Given the description of an element on the screen output the (x, y) to click on. 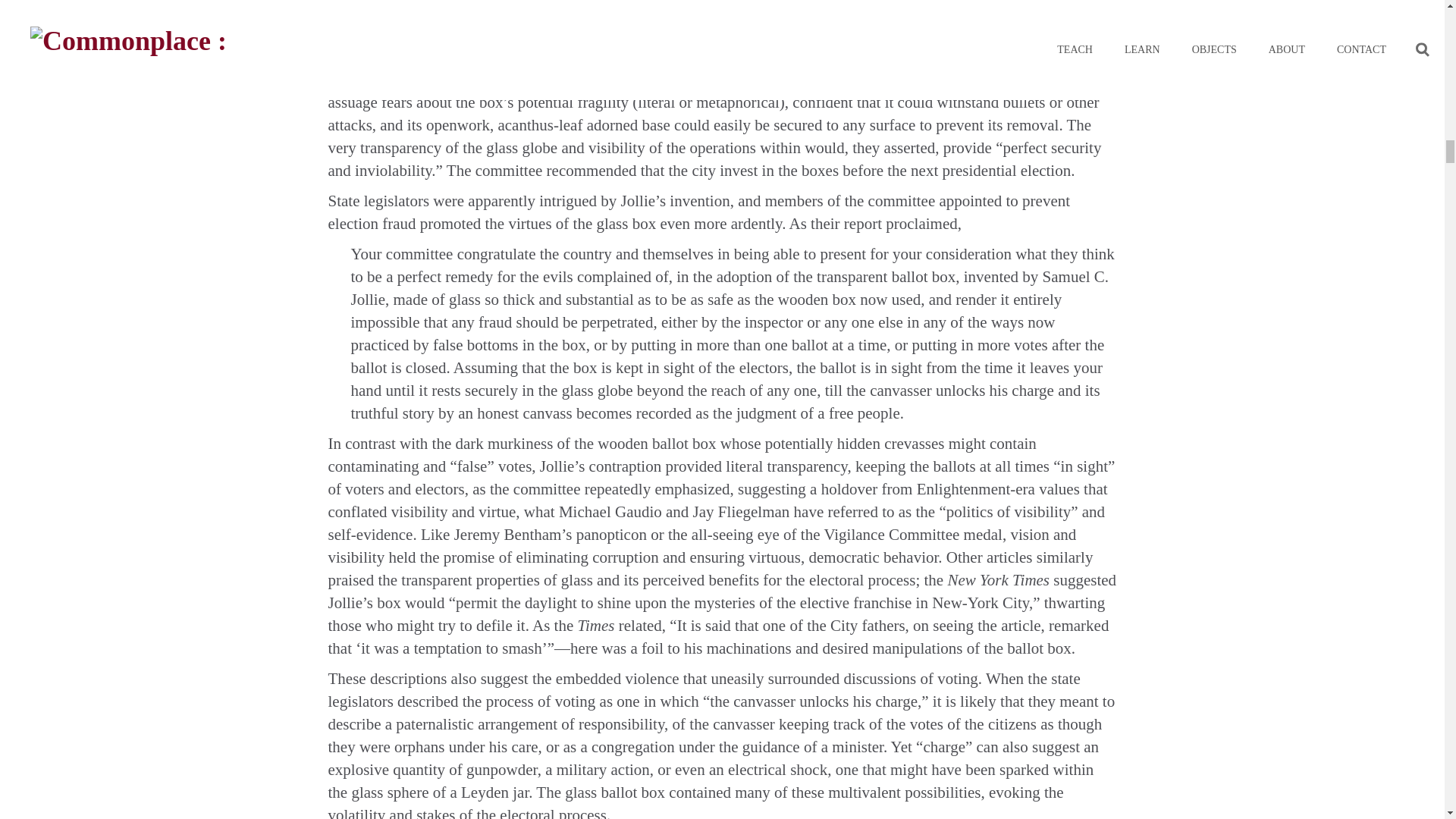
wire boxes (842, 34)
